Given the description of an element on the screen output the (x, y) to click on. 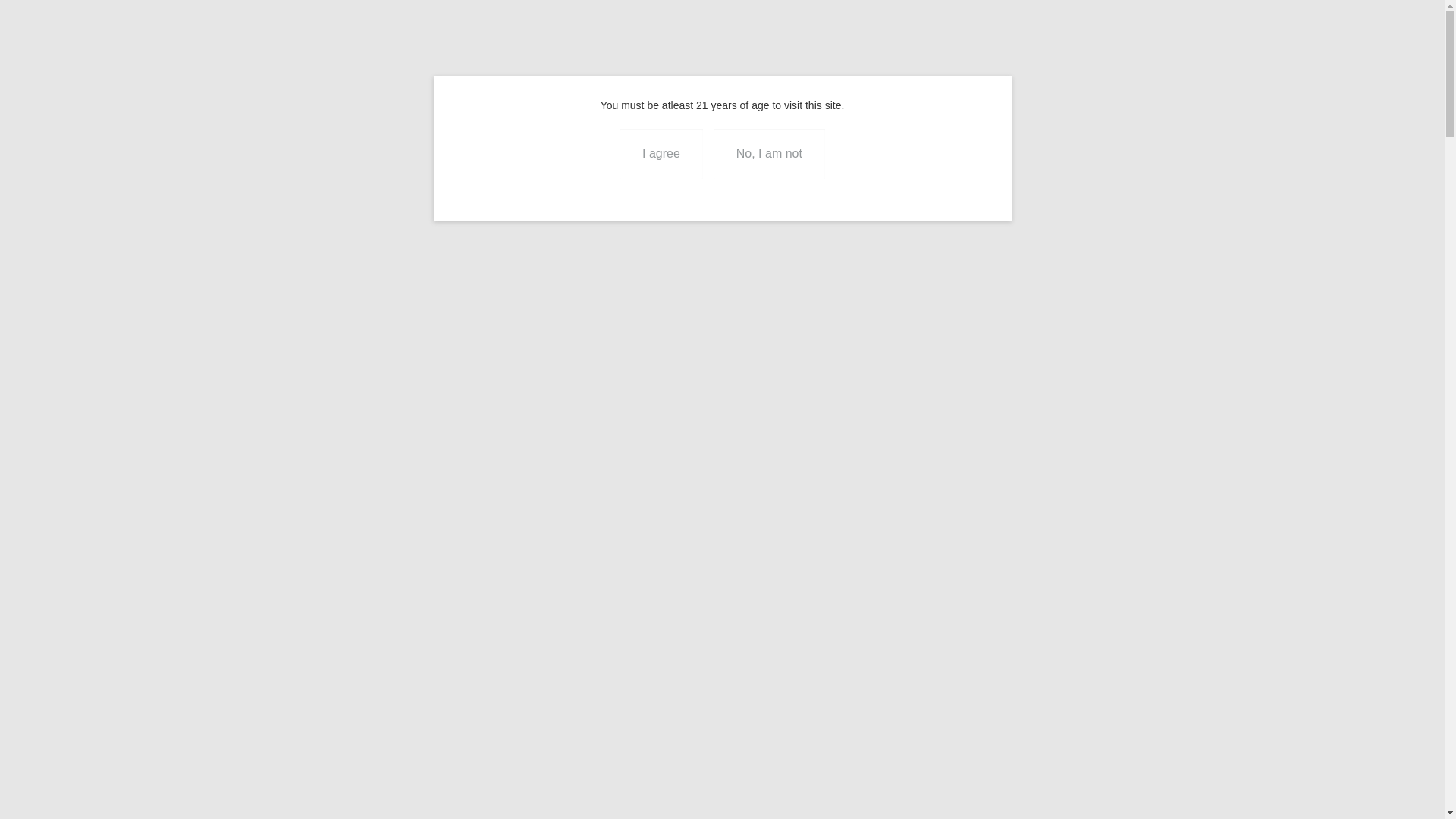
I agree (661, 153)
Wellness (1089, 82)
Psychedelics (1297, 82)
Meditation (1156, 82)
Cannabis (1223, 82)
 No, I am not  (769, 153)
Mental Health (1013, 82)
